Given the description of an element on the screen output the (x, y) to click on. 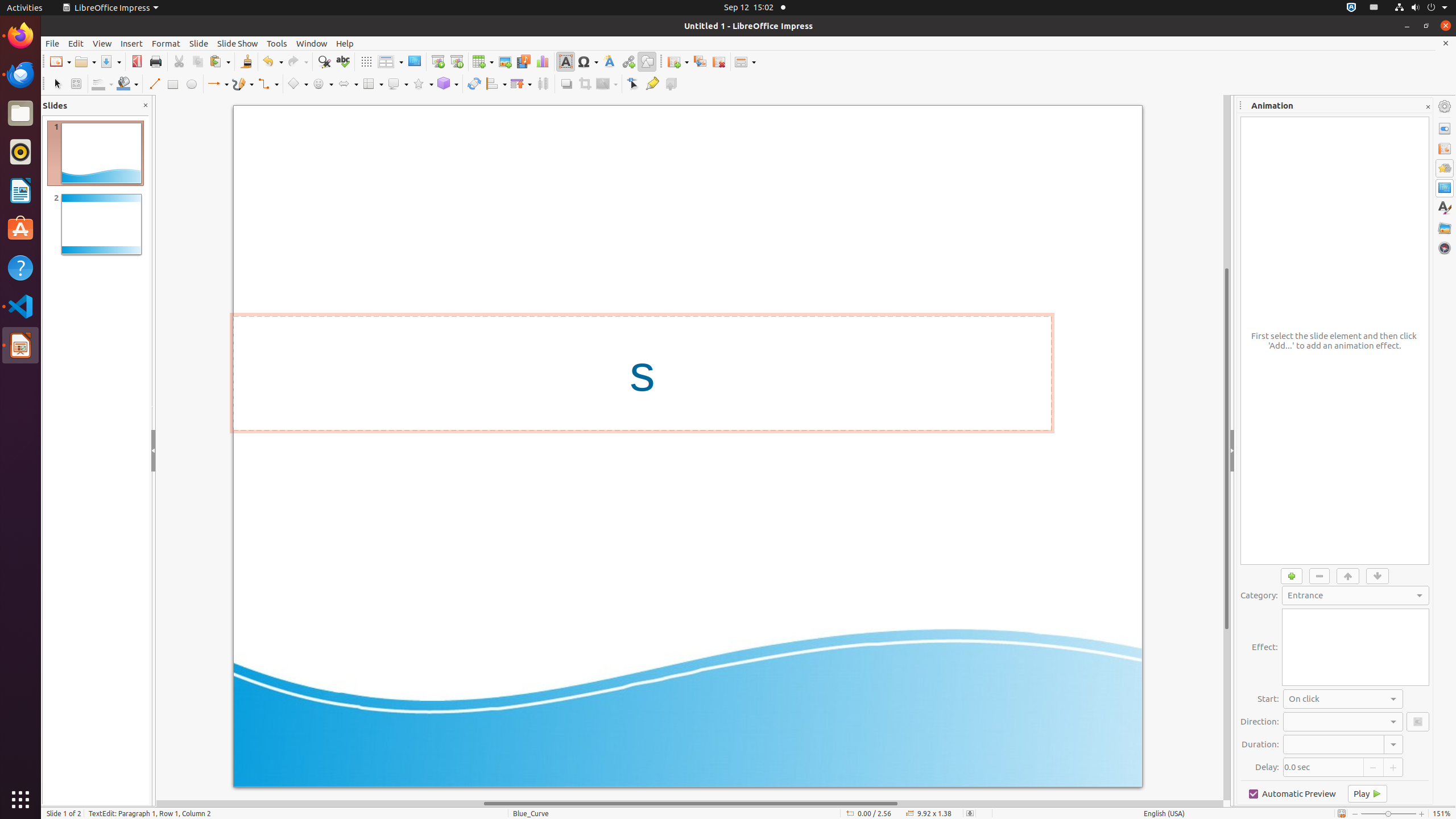
Duration: Element type: combo-box (1343, 744)
Connectors Element type: push-button (267, 83)
Animation Element type: radio-button (1444, 168)
Line Color Element type: push-button (101, 83)
Styles Element type: radio-button (1444, 208)
